Given the description of an element on the screen output the (x, y) to click on. 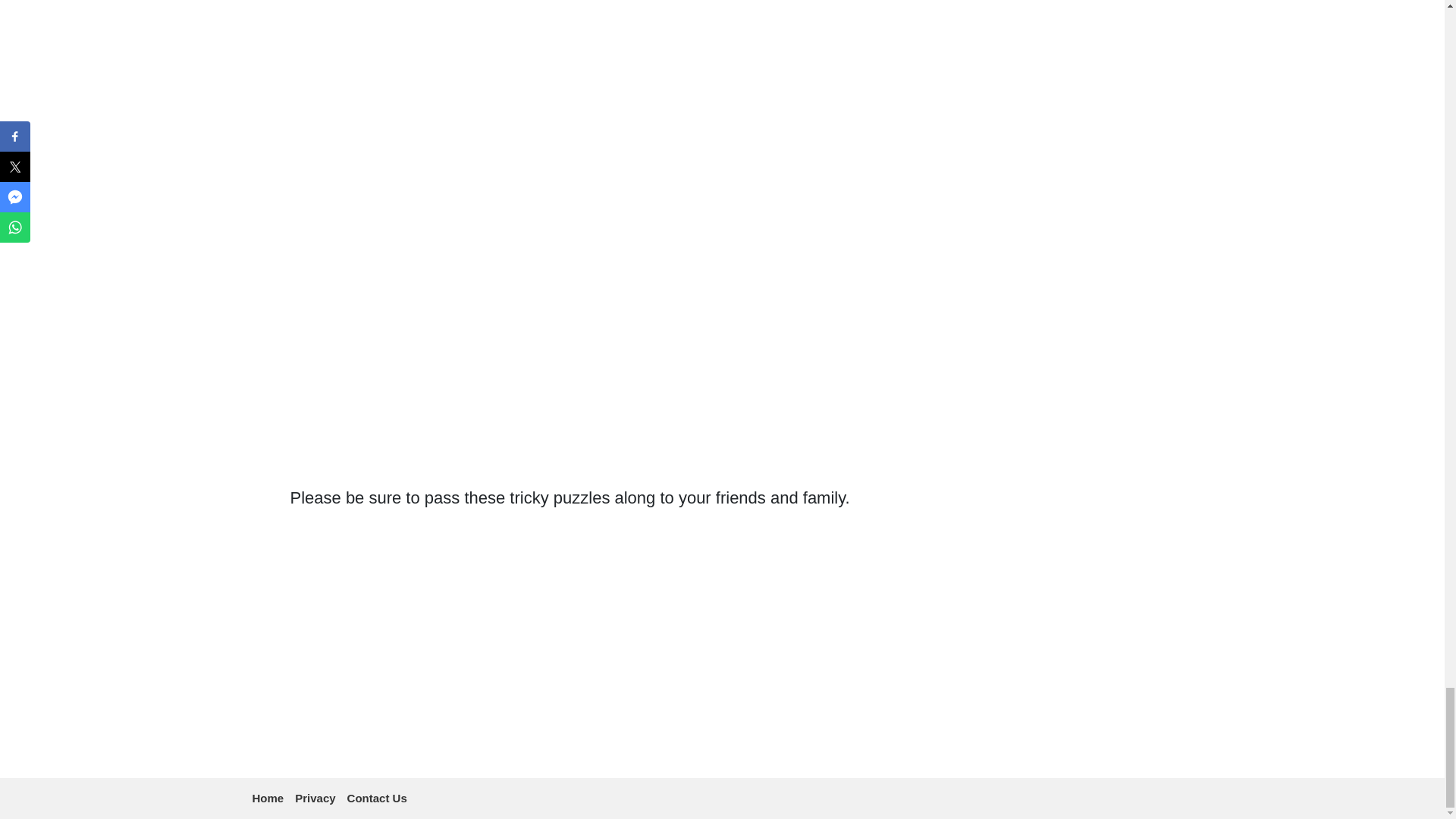
Privacy (314, 797)
Contact Us (377, 797)
Home (267, 797)
